Given the description of an element on the screen output the (x, y) to click on. 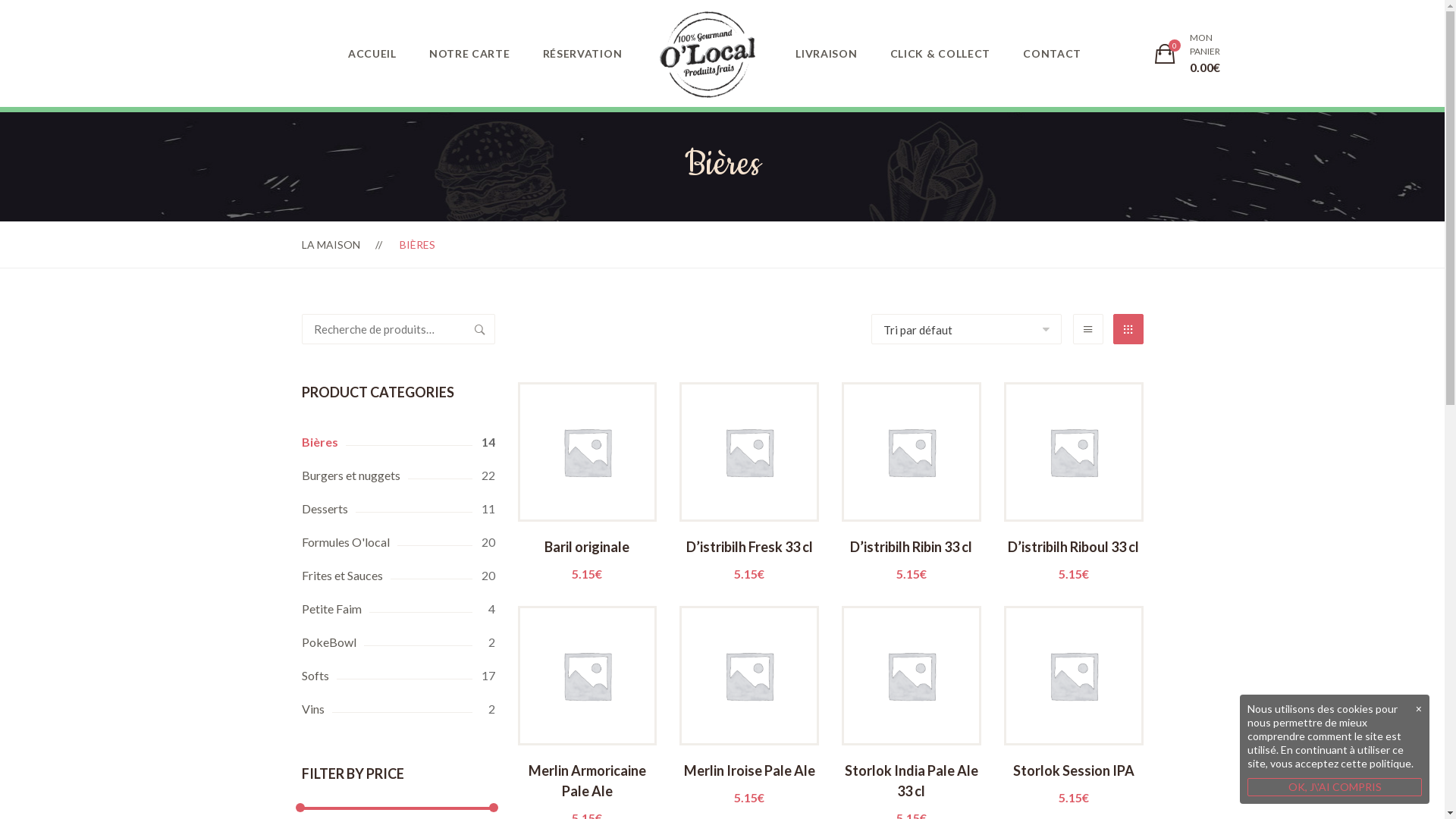
CONTACT Element type: text (1051, 53)
Softs Element type: text (398, 675)
Petite Faim Element type: text (398, 608)
Recherche Element type: text (479, 328)
Merlin Iroise Pale Ale Element type: text (749, 781)
Storlok Session IPA Element type: text (1073, 781)
NOTRE CARTE Element type: text (469, 53)
CLICK & COLLECT Element type: text (940, 53)
LA MAISON Element type: text (330, 244)
O'local Element type: hover (707, 54)
Baril originale Element type: text (586, 558)
OK, J\'AI COMPRIS Element type: text (1334, 787)
Desserts Element type: text (398, 508)
ACCUEIL Element type: text (371, 53)
Burgers et nuggets Element type: text (398, 475)
LIVRAISON Element type: text (826, 53)
Vins Element type: text (398, 708)
PokeBowl Element type: text (398, 641)
Formules O'local Element type: text (398, 541)
Frites et Sauces Element type: text (398, 575)
